Given the description of an element on the screen output the (x, y) to click on. 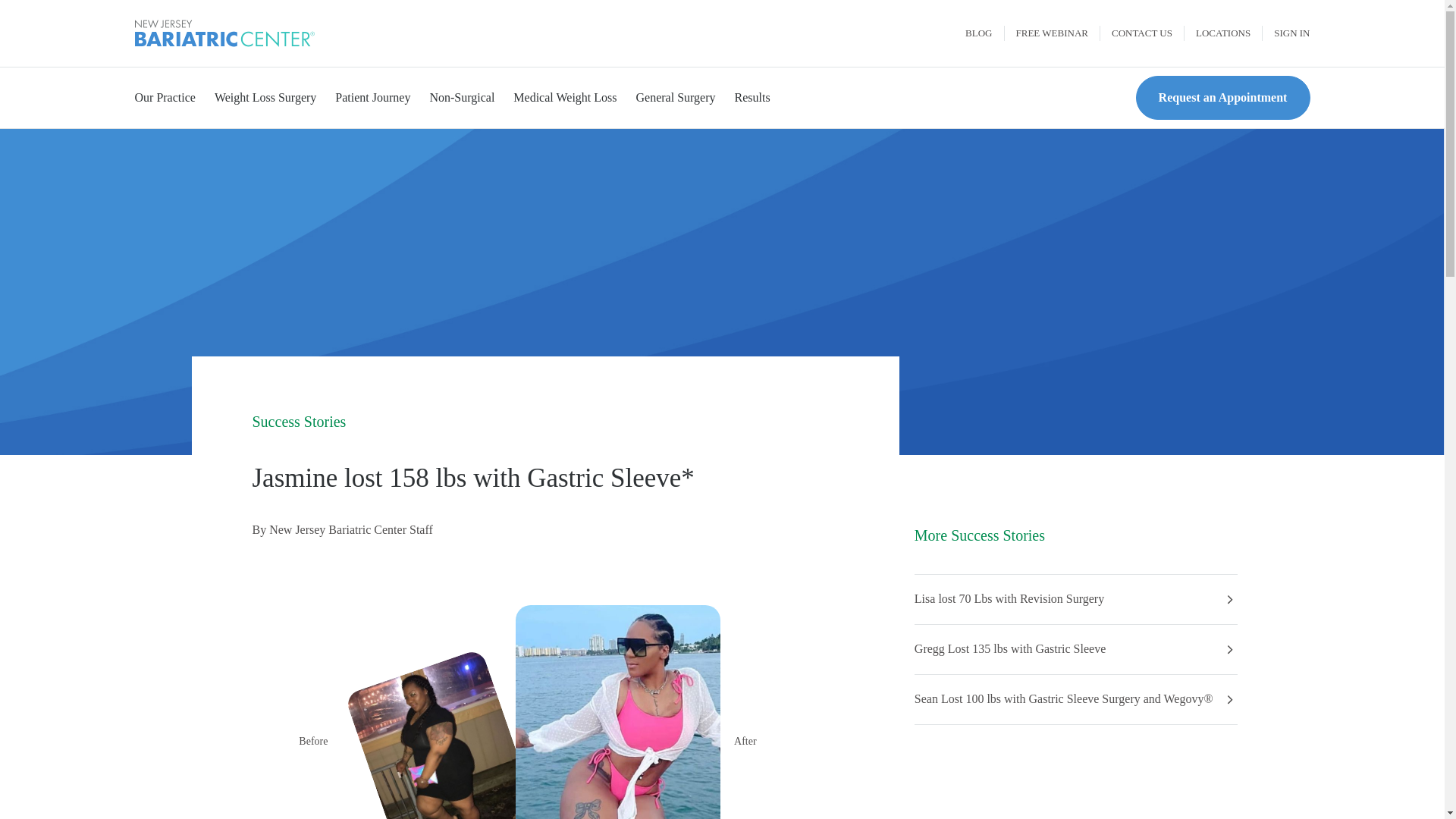
Our Practice (165, 98)
General Surgery (674, 98)
Patient Journey (372, 98)
Request an Appointment (1222, 98)
FREE WEBINAR (1051, 32)
Medical Weight Loss (564, 98)
Non-Surgical (462, 98)
Gregg Lost 135 lbs with Gastric Sleeve (1009, 649)
Lisa lost 70 Lbs with Revision Surgery (1008, 599)
Results (751, 98)
LOCATIONS (1223, 32)
BLOG (978, 32)
Weight Loss Surgery (264, 98)
SIGN IN (1285, 32)
CONTACT US (1141, 32)
